Given the description of an element on the screen output the (x, y) to click on. 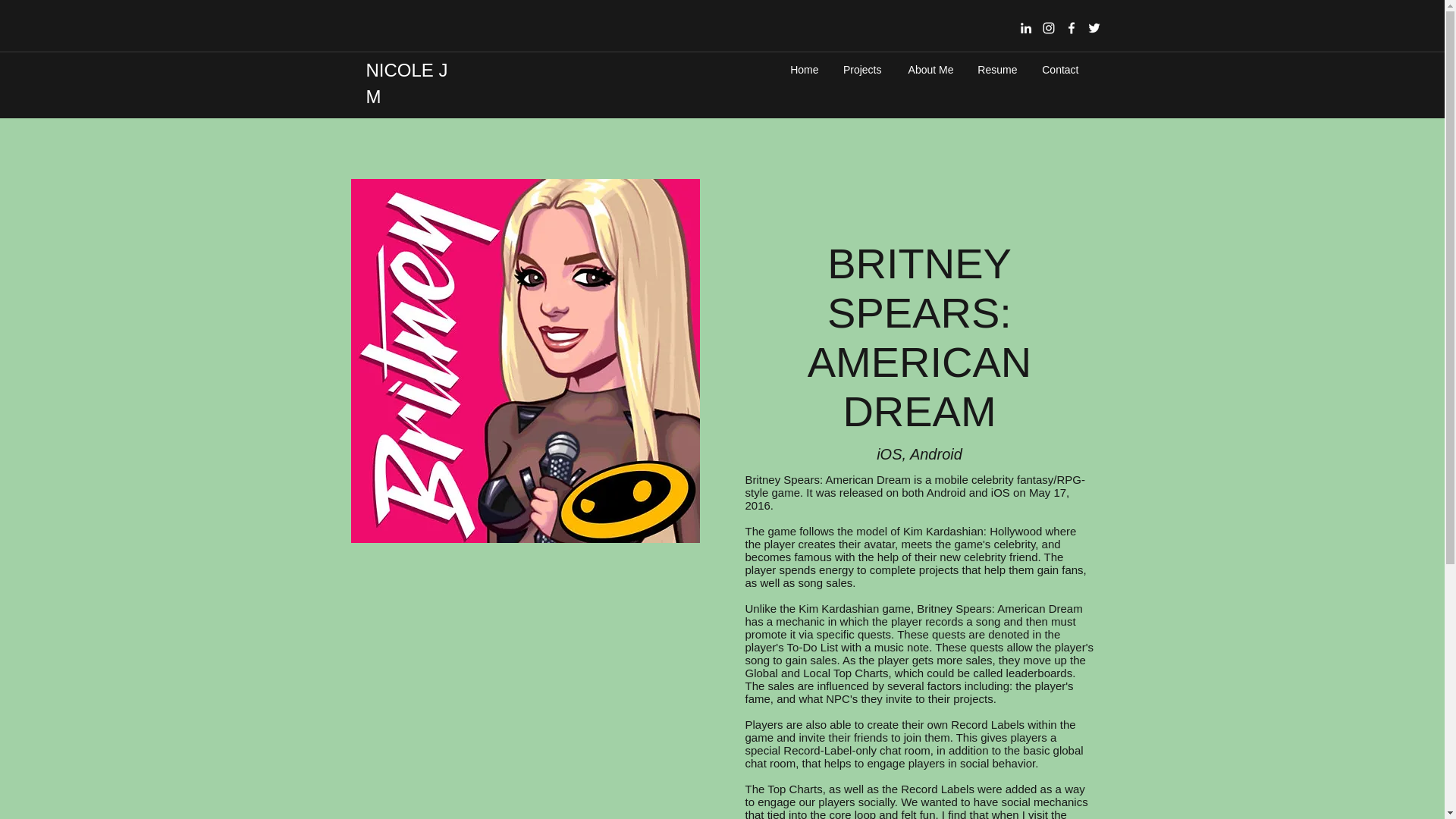
About Me (929, 69)
Projects (860, 69)
Resume (995, 69)
Contact (1058, 69)
External YouTube (524, 676)
BritneyIcon.jpg (524, 360)
Home (803, 69)
